Given the description of an element on the screen output the (x, y) to click on. 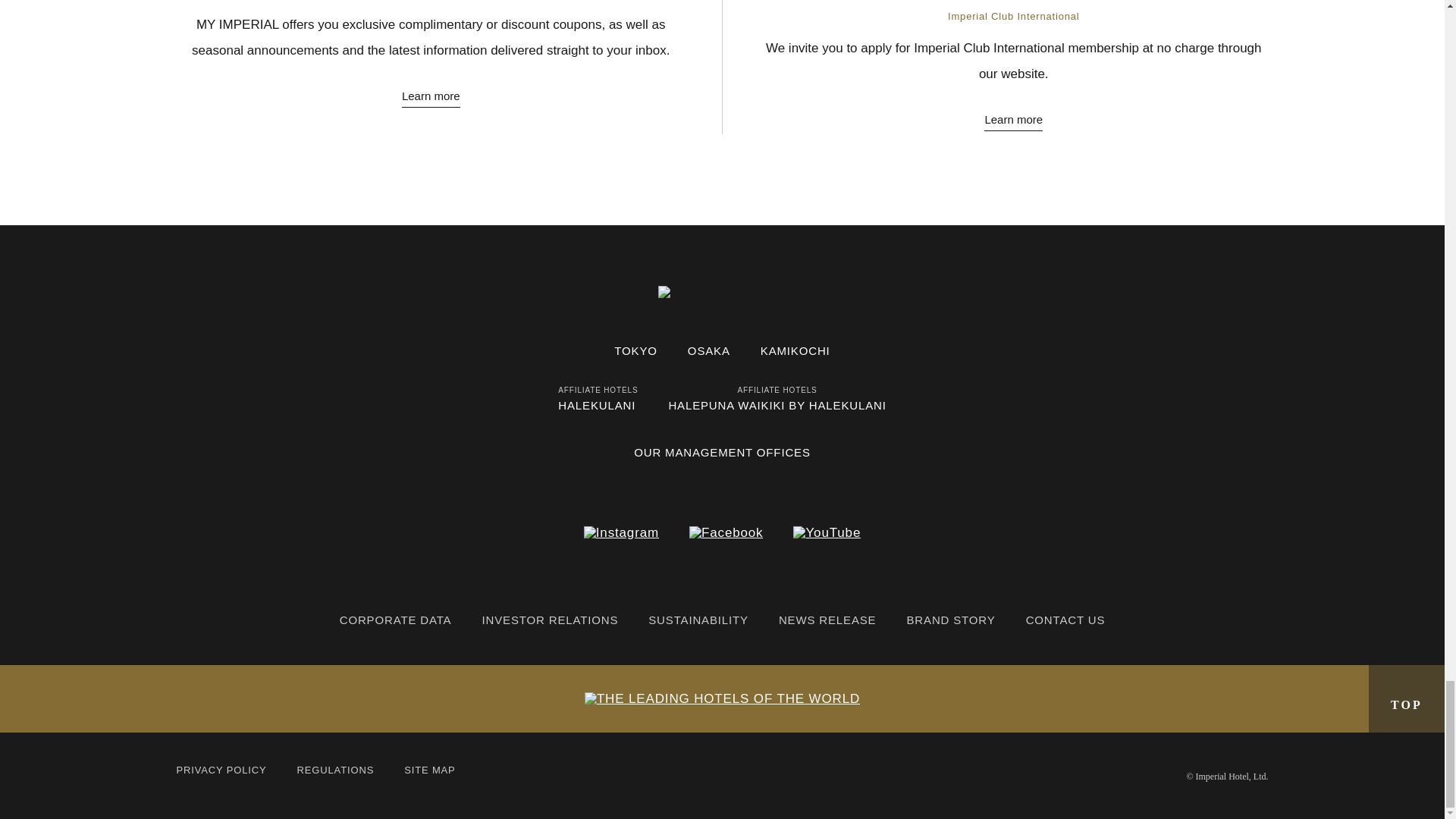
Learn more (430, 95)
Learn more (1013, 119)
KAMIKOCHI (794, 350)
TOKYO (636, 350)
HALEKULANI (595, 404)
OSAKA (708, 350)
